Given the description of an element on the screen output the (x, y) to click on. 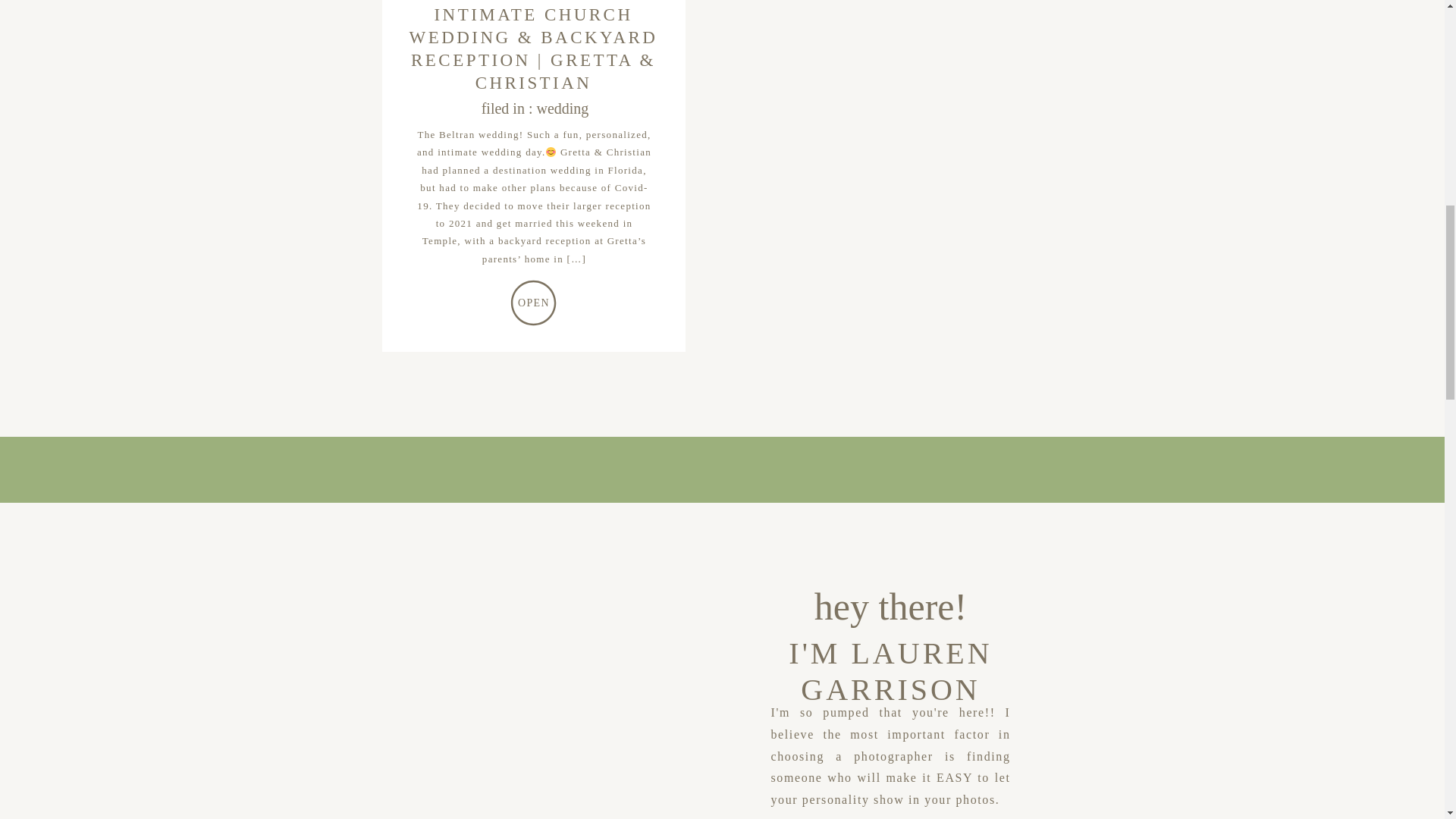
OPEN (534, 301)
wedding (561, 108)
